Given the description of an element on the screen output the (x, y) to click on. 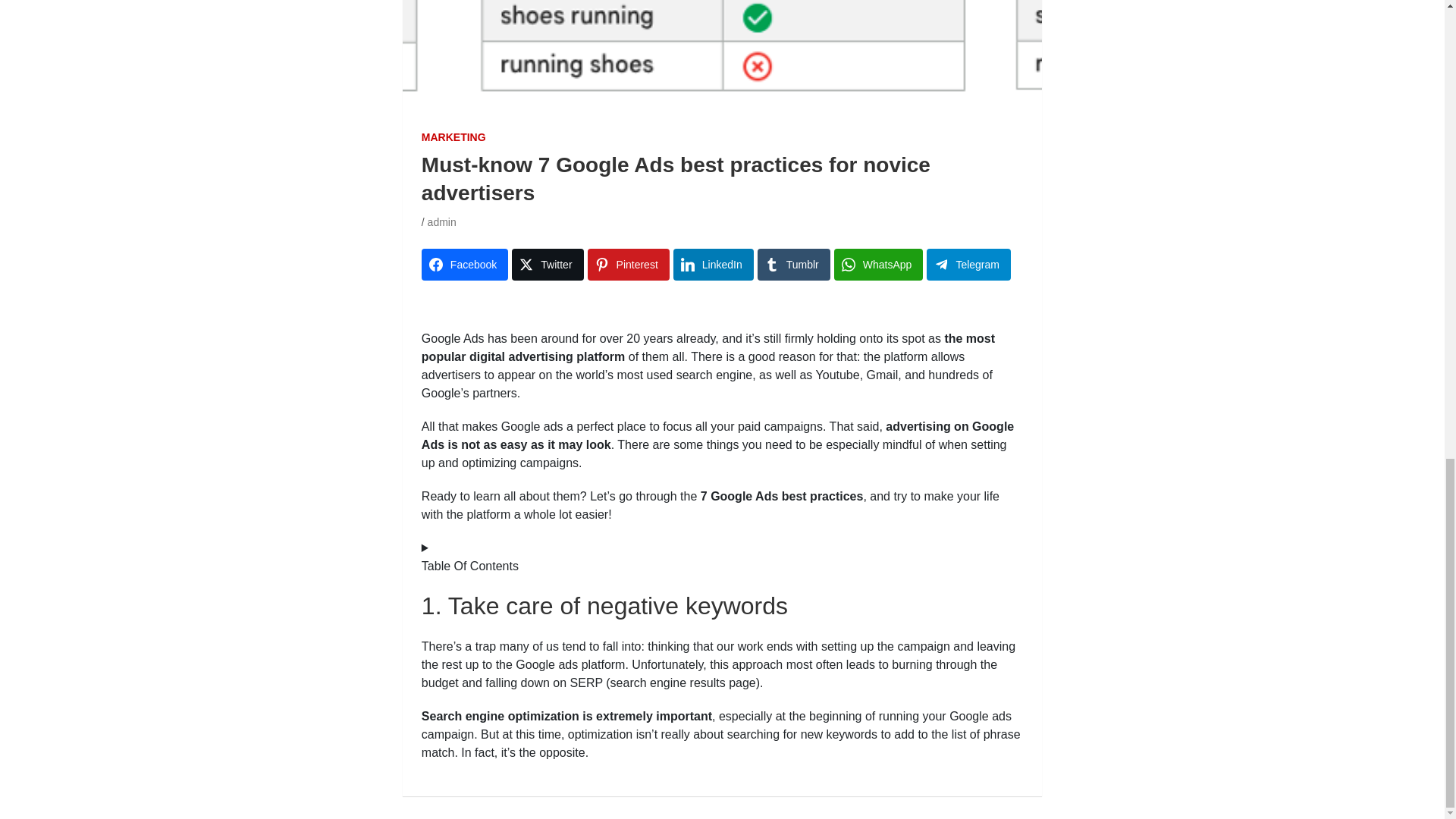
Share on LinkedIn (713, 264)
Share on WhatsApp (878, 264)
Pinterest (628, 264)
Share on Facebook (465, 264)
Twitter (547, 264)
Facebook (465, 264)
Share on Telegram (968, 264)
Share on Tumblr (793, 264)
WhatsApp (878, 264)
Share on Twitter (547, 264)
